Given the description of an element on the screen output the (x, y) to click on. 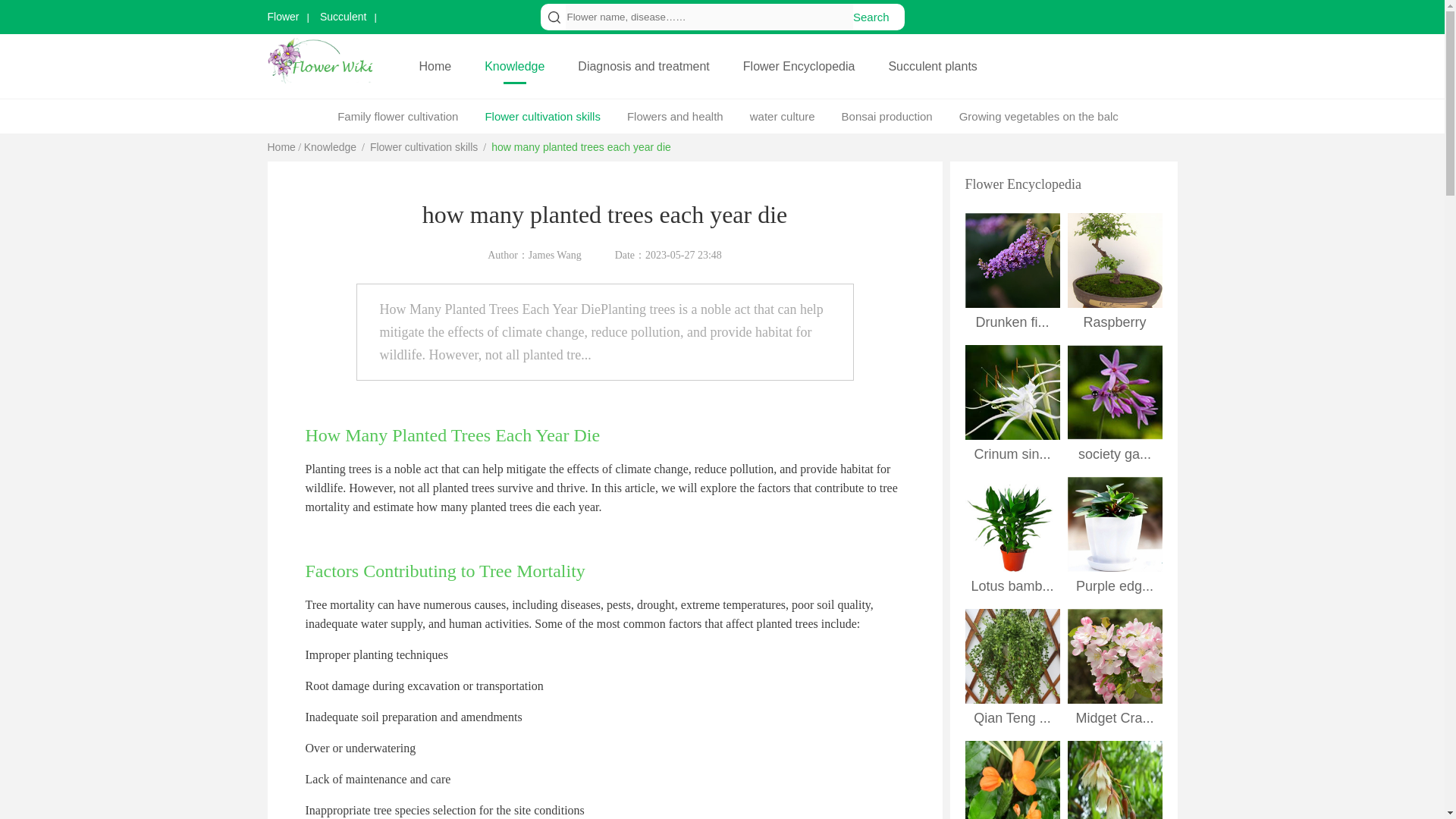
Flower cultivation skills (423, 146)
Home (434, 65)
Drunken fish grass (1011, 259)
Flowers and health (675, 115)
Flower (287, 16)
Family flower cultivation (397, 115)
Knowledge (330, 146)
Bonsai production (887, 115)
water culture (782, 115)
Succulent (345, 16)
